Given the description of an element on the screen output the (x, y) to click on. 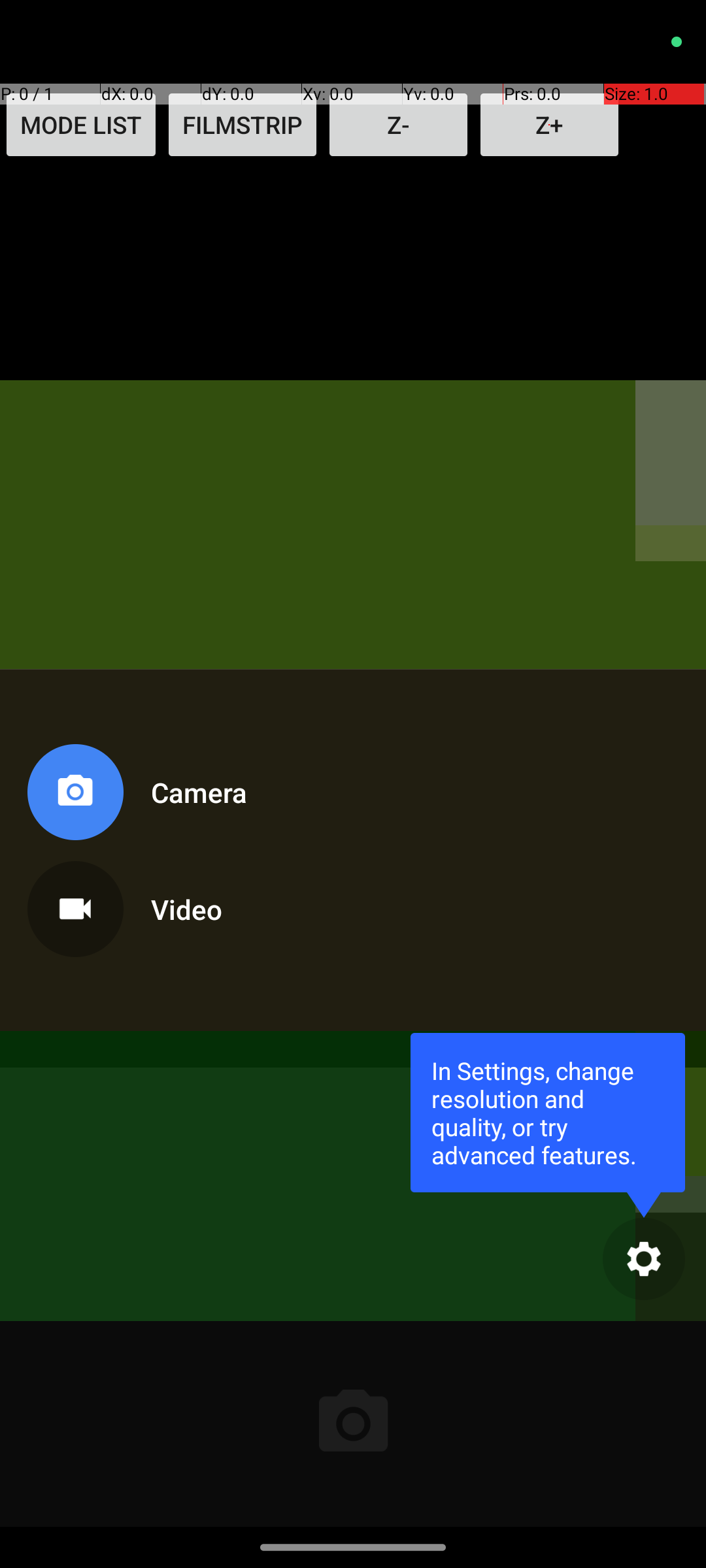
Switch to Camera Mode Element type: android.widget.FrameLayout (134, 797)
Switch to Video Camera Element type: android.widget.FrameLayout (134, 903)
In Settings, change resolution and quality, or try advanced features. Element type: android.widget.TextView (547, 1112)
